Given the description of an element on the screen output the (x, y) to click on. 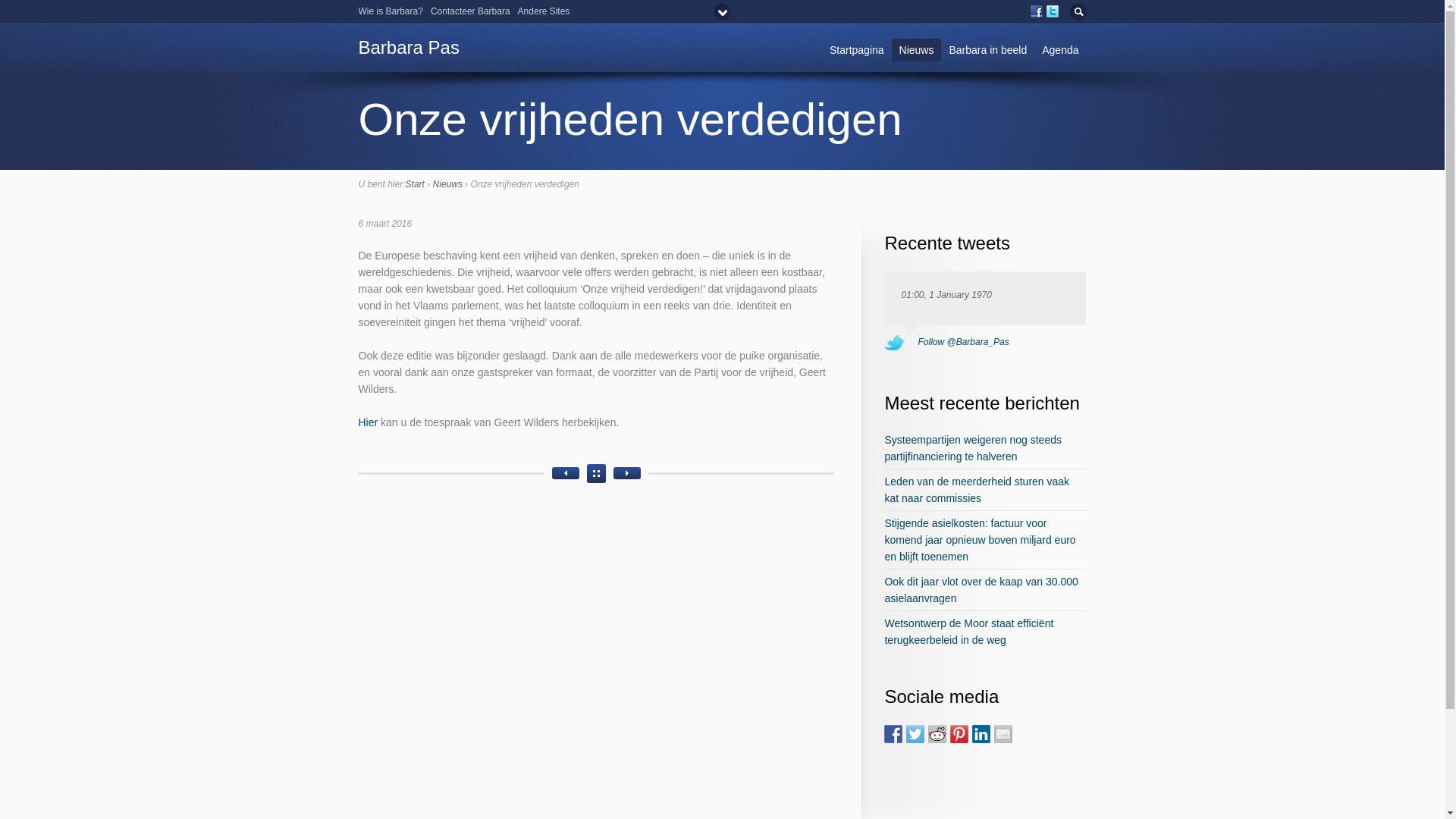
Niets aan toe te voegen ? Element type: text (565, 473)
Nieuws Element type: text (916, 49)
Barbara in beeld Element type: text (987, 49)
Ook dit jaar vlot over de kaap van 30.000 asielaanvragen Element type: text (980, 589)
Pin it with Pinterest Element type: hover (959, 733)
01:00, 1 January 1970 Element type: text (945, 294)
Share on Reddit Element type: hover (937, 733)
Contacteer Barbara Element type: text (470, 11)
Vlaams Belang eist veto tegen Turkse chantage Element type: text (626, 473)
Andere Sites Element type: text (543, 11)
Share on Facebook Element type: hover (893, 733)
Share by email Element type: hover (1003, 733)
Alle berichten Element type: text (595, 473)
Leden van de meerderheid sturen vaak kat naar commissies Element type: text (976, 489)
Hier Element type: text (367, 422)
Barbara Pas Element type: text (407, 47)
Nieuws Element type: text (447, 183)
Wie is Barbara? Element type: text (389, 11)
Startpagina Element type: text (856, 49)
Share on Twitter Element type: hover (915, 733)
Agenda Element type: text (1059, 49)
Start Element type: text (414, 183)
Follow @Barbara_Pas Element type: text (962, 341)
Share on Linkedin Element type: hover (981, 733)
